Given the description of an element on the screen output the (x, y) to click on. 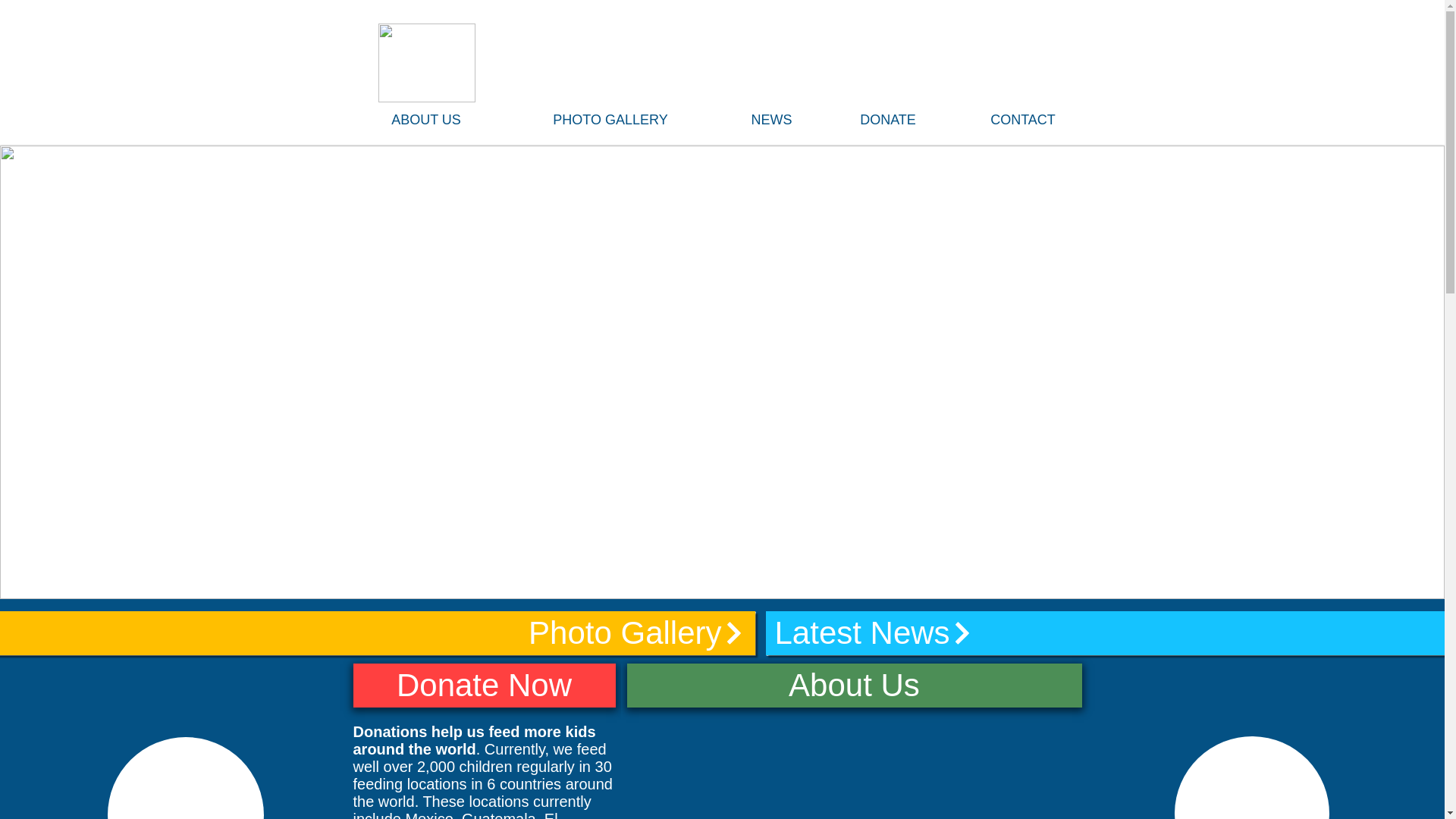
Photo Gallery (377, 632)
Donate Now (484, 685)
CONTACT (1023, 119)
ABOUT US (425, 119)
DONATE (888, 119)
External Vimeo (853, 763)
About Us (853, 685)
CL-Logo.jpg (425, 62)
PHOTO GALLERY (610, 119)
NEWS (771, 119)
